Given the description of an element on the screen output the (x, y) to click on. 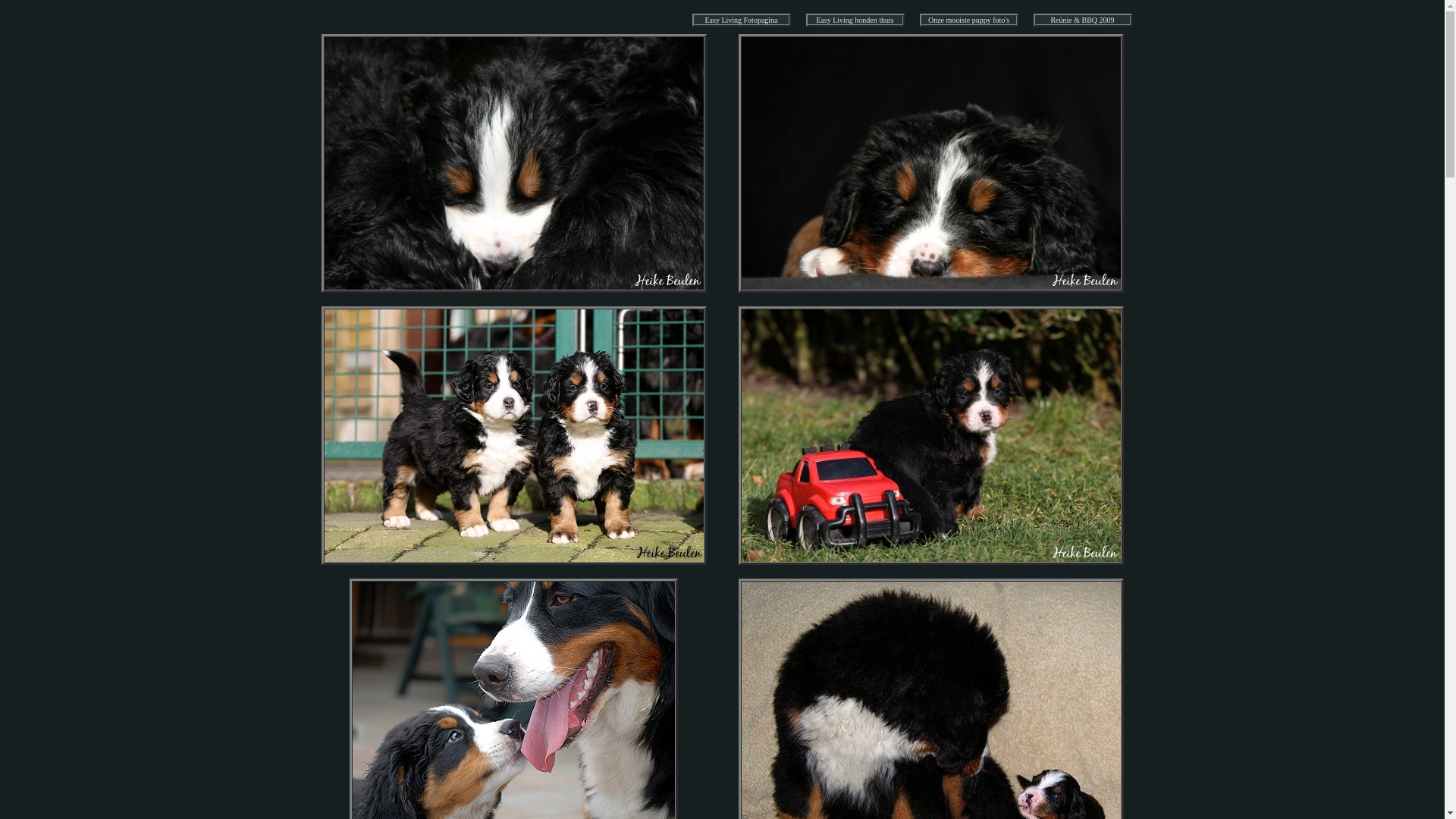
Onze mooiste puppy foto's Element type: text (968, 19)
Easy Living honden thuis Element type: text (854, 19)
Easy Living Fotopagina Element type: text (740, 19)
